Given the description of an element on the screen output the (x, y) to click on. 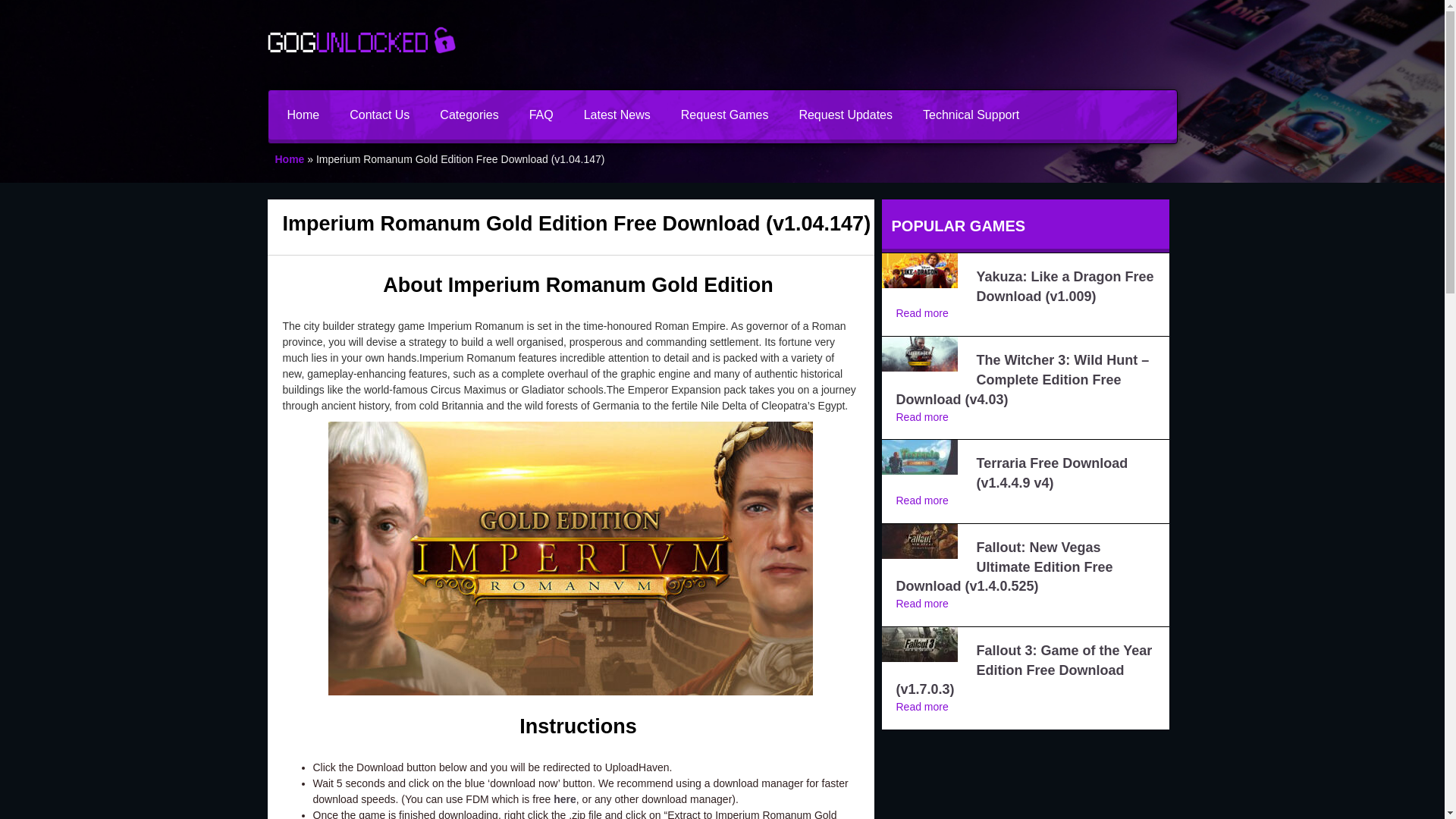
Read more (922, 603)
Home (289, 159)
Home (302, 114)
Request Games (724, 114)
Read more (922, 500)
here (564, 799)
Categories (469, 114)
Read more (922, 313)
Request Updates (845, 114)
Latest News (617, 114)
Technical Support (970, 114)
FAQ (541, 114)
Read more (922, 706)
Contact Us (379, 114)
Read more (922, 417)
